Given the description of an element on the screen output the (x, y) to click on. 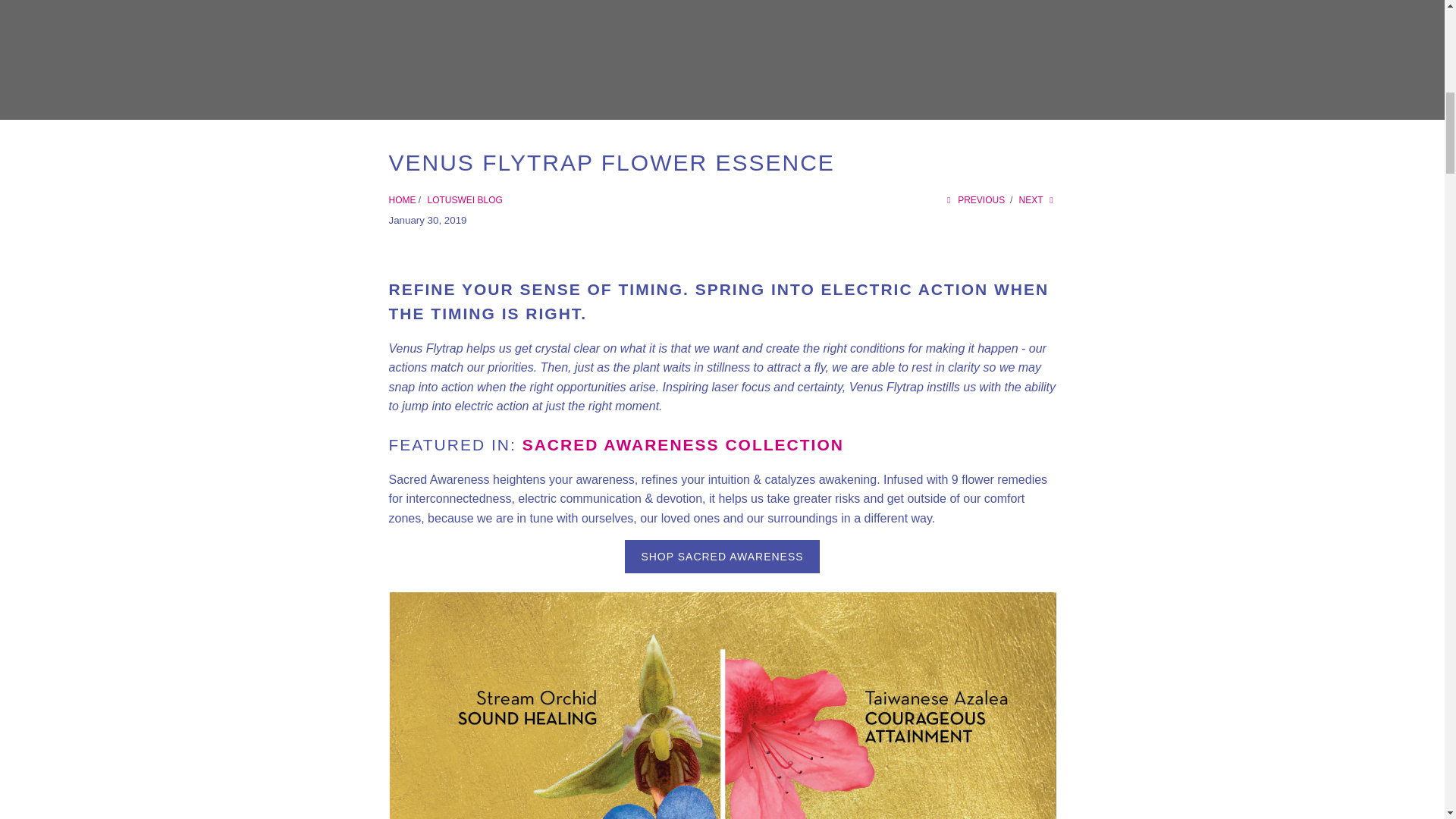
LOTUSWEI Blog (465, 199)
LOTUSWEI (401, 199)
